Given the description of an element on the screen output the (x, y) to click on. 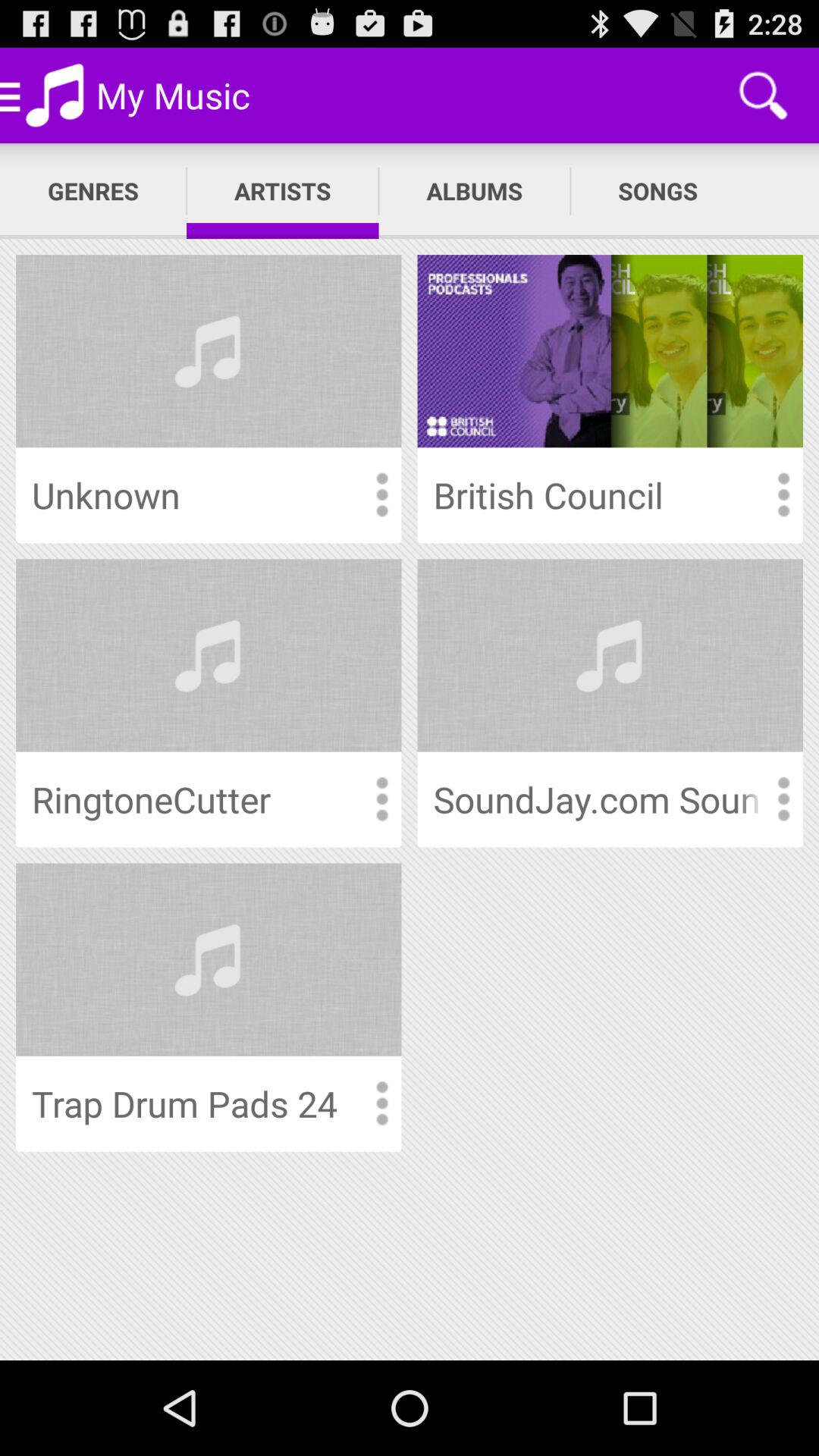
see more options from this artist (783, 799)
